Given the description of an element on the screen output the (x, y) to click on. 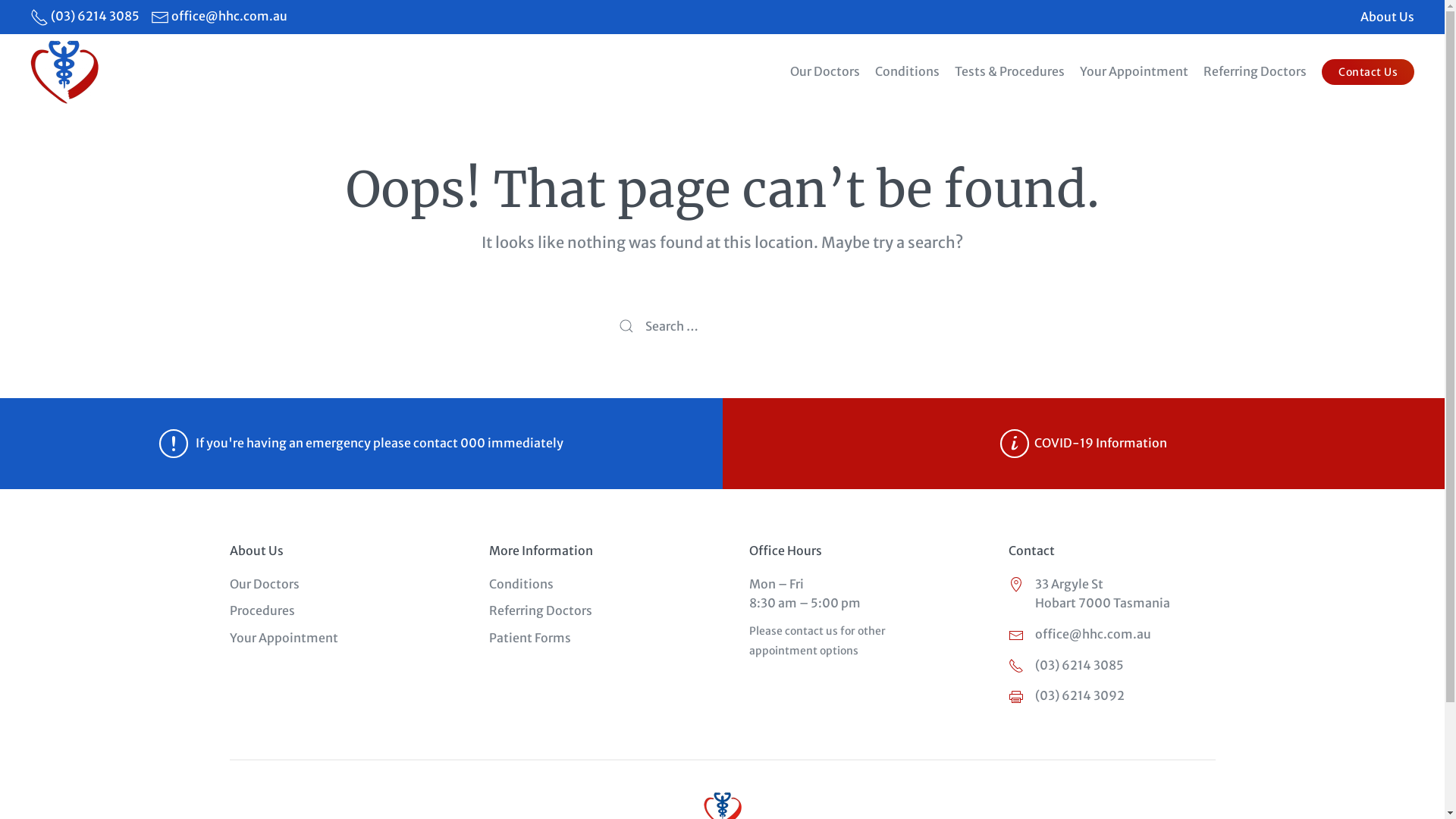
33 Argyle St
Hobart 7000 Tasmania Element type: text (1111, 593)
Tests & Procedures Element type: text (1009, 71)
About Us Element type: text (255, 550)
  COVID-19 Information Element type: text (1083, 442)
Referring Doctors Element type: text (1254, 71)
Our Doctors Element type: text (824, 71)
Conditions Element type: text (907, 71)
(03) 6214 3085 Element type: text (1111, 665)
Contact Element type: text (1031, 550)
Conditions Element type: text (521, 583)
Contact Us Element type: text (1367, 71)
Your Appointment Element type: text (283, 637)
(03) 6214 3085 Element type: text (94, 15)
Your Appointment Element type: text (1133, 71)
Our Doctors Element type: text (263, 583)
office@hhc.com.au Element type: text (1111, 634)
Referring Doctors Element type: text (540, 610)
About Us Element type: text (1387, 16)
Procedures Element type: text (261, 610)
Patient Forms Element type: text (530, 637)
Please contact us for other appointment options Element type: text (817, 639)
office@hhc.com.au Element type: text (229, 15)
